Given the description of an element on the screen output the (x, y) to click on. 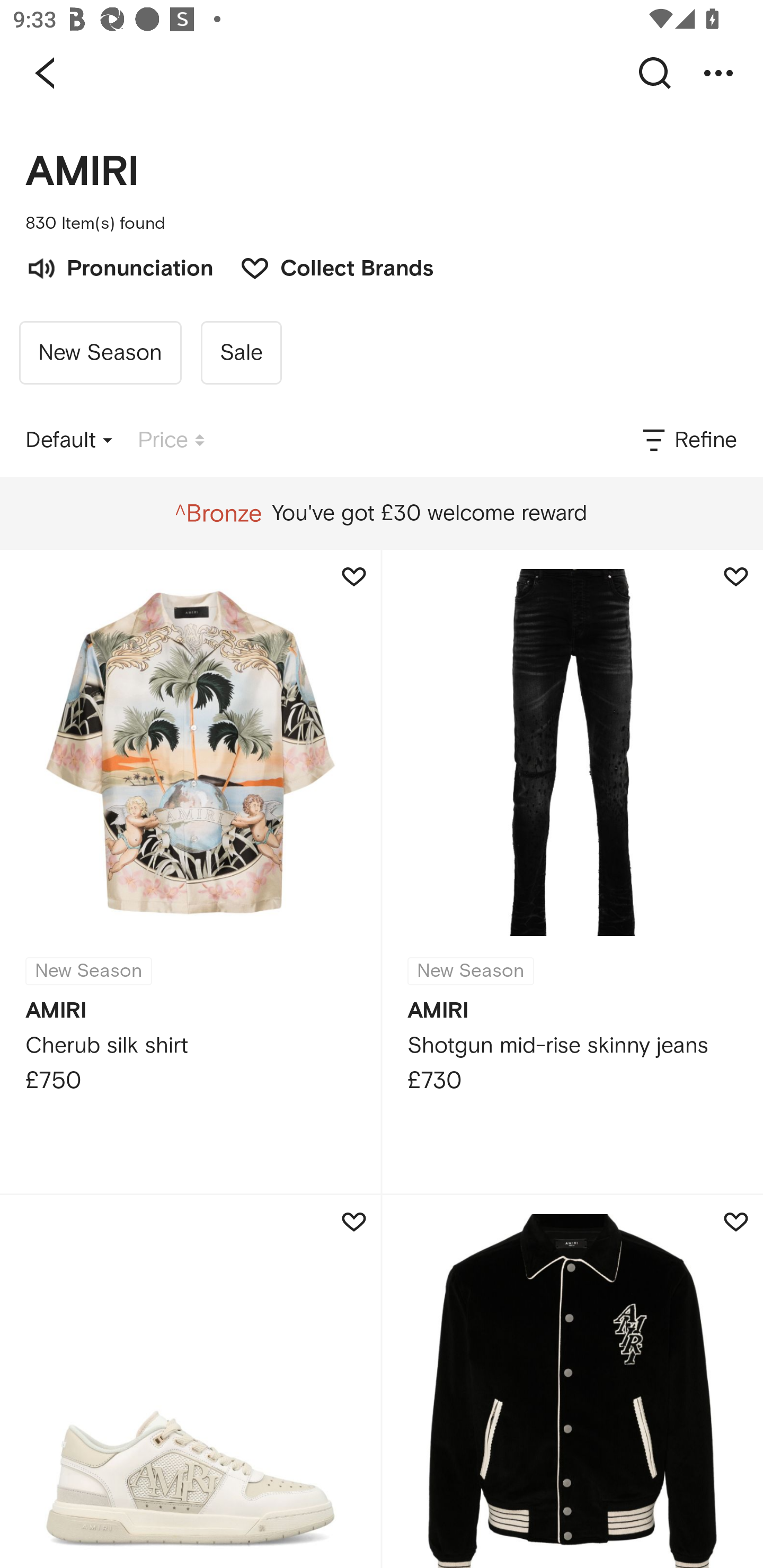
Pronunciation (119, 266)
Collect Brands (327, 266)
New Season (100, 352)
Sale (240, 352)
Default (68, 440)
Price (171, 440)
Refine (688, 440)
You've got £30 welcome reward (381, 513)
New Season AMIRI Cherub silk shirt £750 (190, 871)
